Given the description of an element on the screen output the (x, y) to click on. 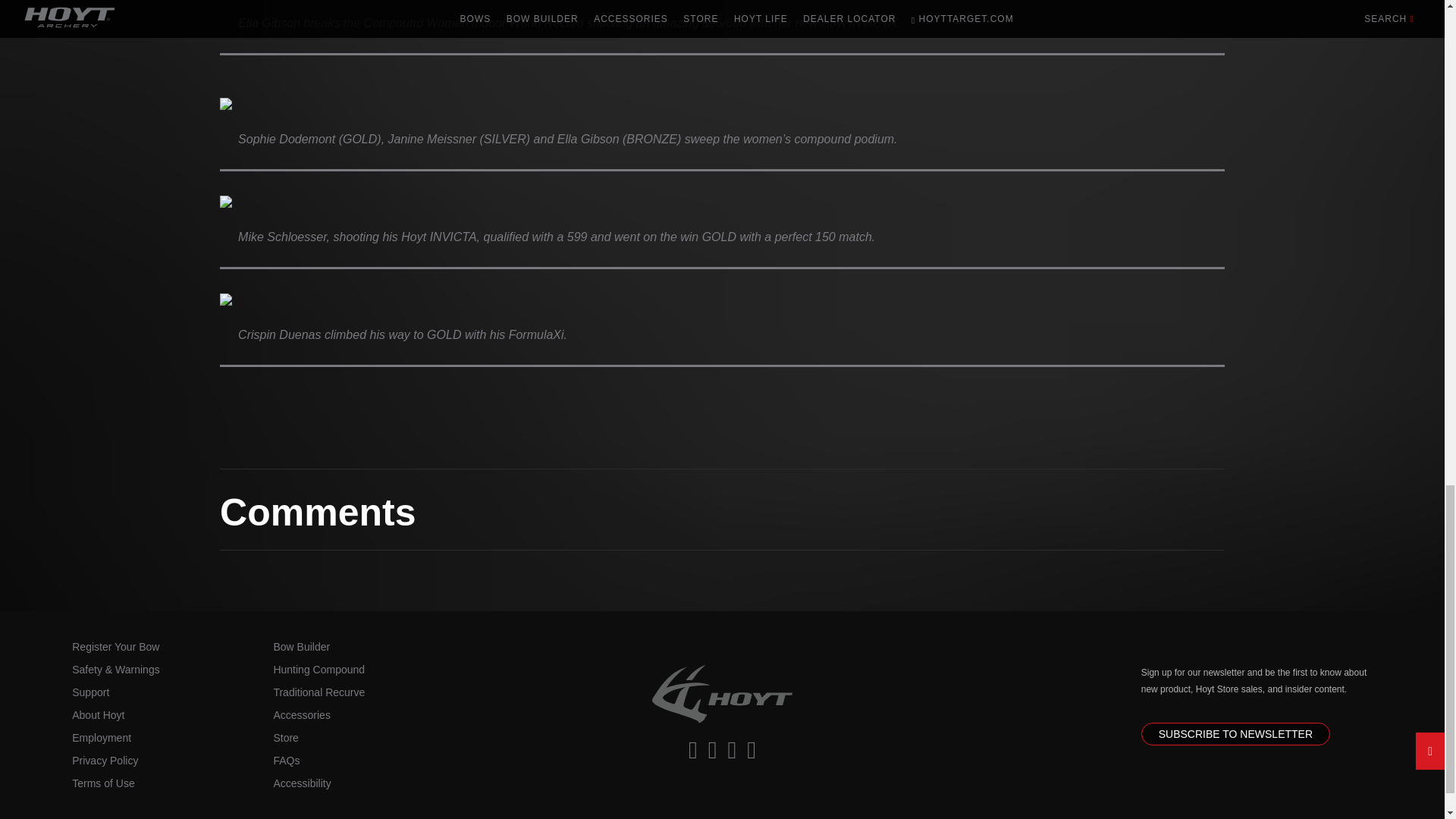
About Hoyt (97, 715)
Privacy Policy (104, 760)
Hoyt Hunting Compounds (319, 669)
Hoyt Safety and Warnings (114, 669)
Terms of Use (102, 783)
Hoyt Bow Builder (301, 646)
Hoyt Traditional Recurves (319, 692)
Hoyt Customer Support (90, 692)
Register Your Hoyt Bow (114, 646)
Genuine Hoyt Accessories (301, 715)
